Given the description of an element on the screen output the (x, y) to click on. 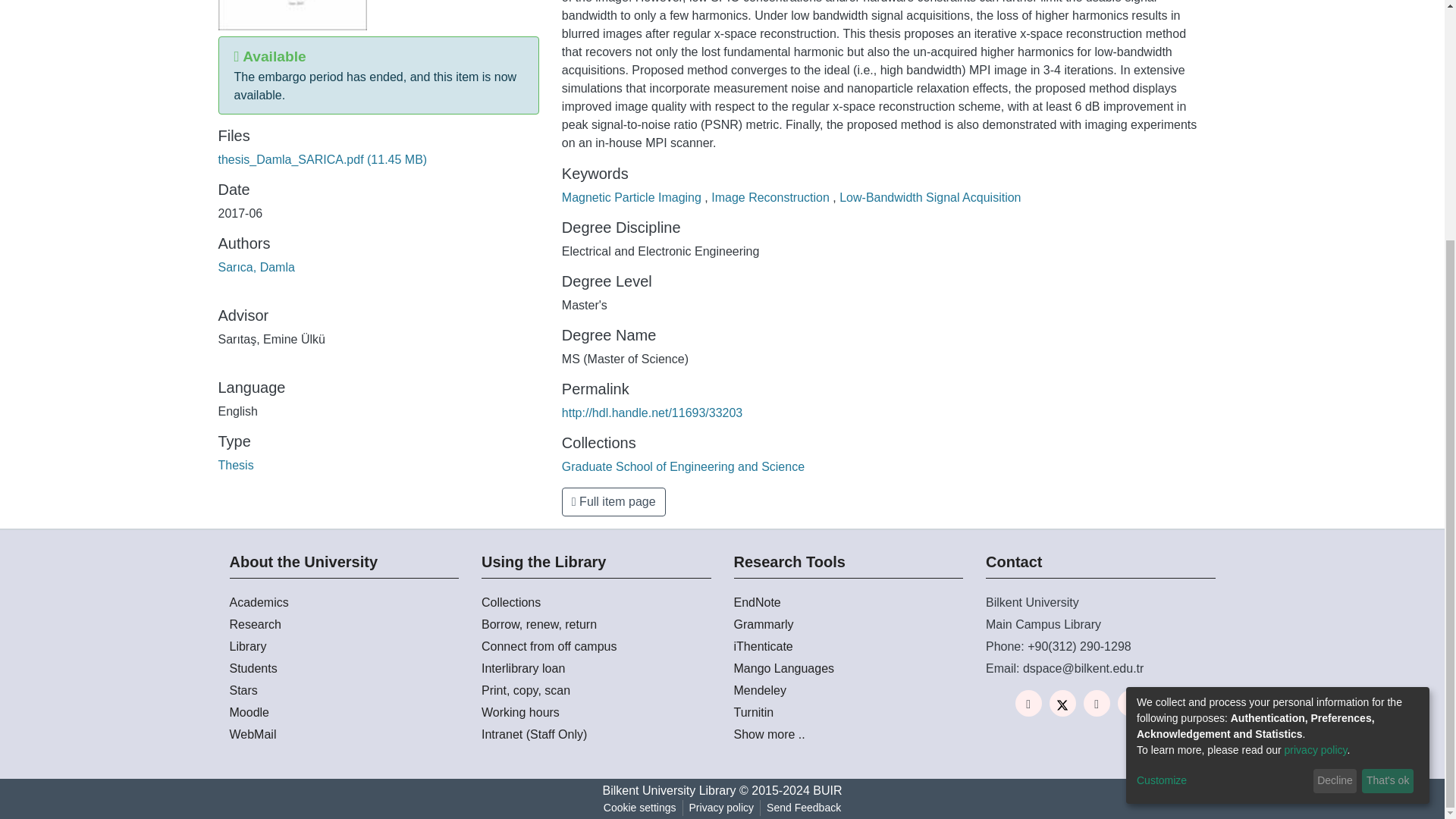
WebMail (343, 734)
Stars (343, 690)
Library (343, 647)
Collections (596, 602)
Students (343, 669)
Thesis (235, 464)
Graduate School of Engineering and Science (683, 466)
Connect from off campus (596, 647)
Research (343, 624)
Borrow, renew, return (596, 624)
